Given the description of an element on the screen output the (x, y) to click on. 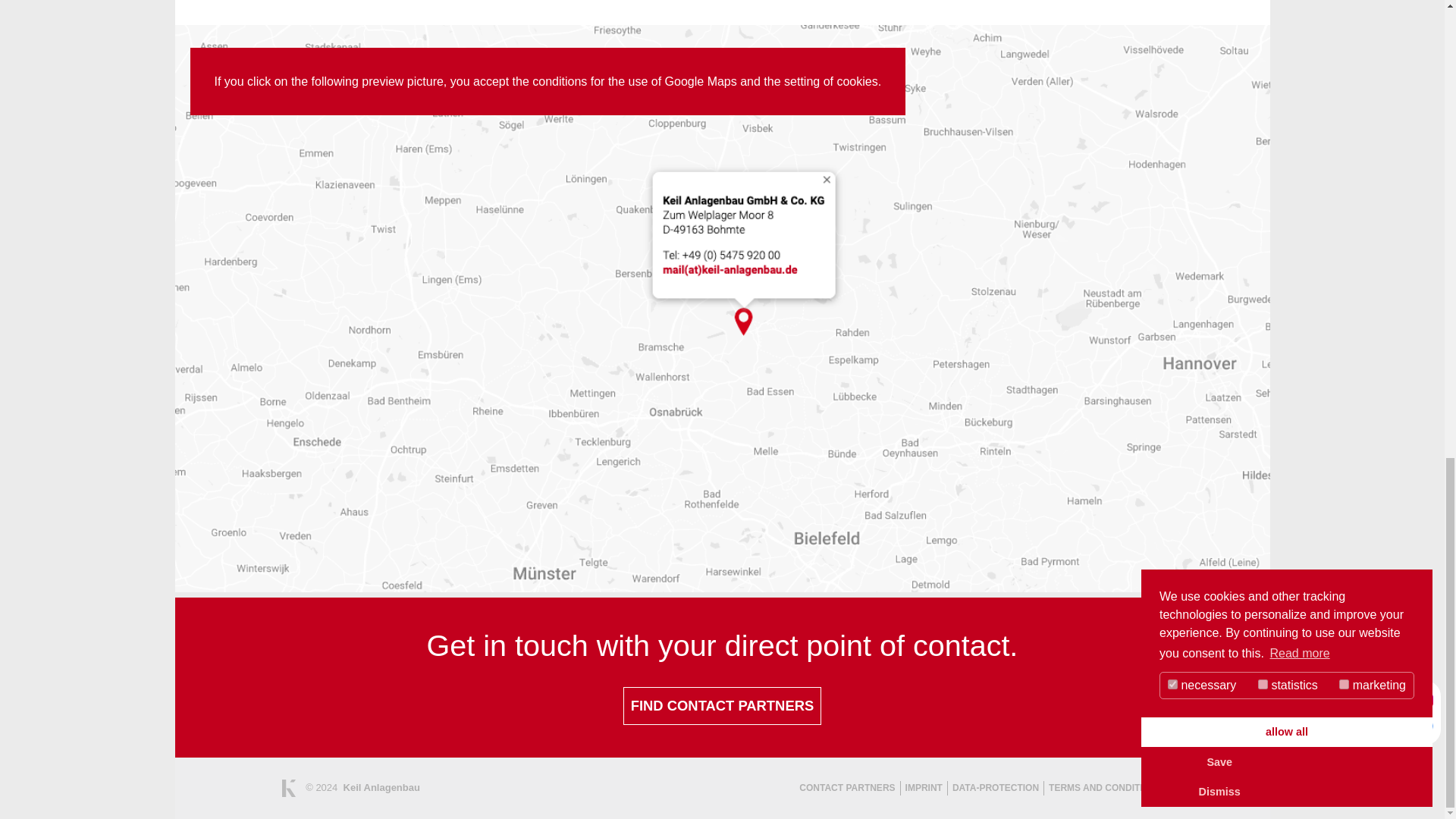
Opens internal link in current window (722, 705)
